Given the description of an element on the screen output the (x, y) to click on. 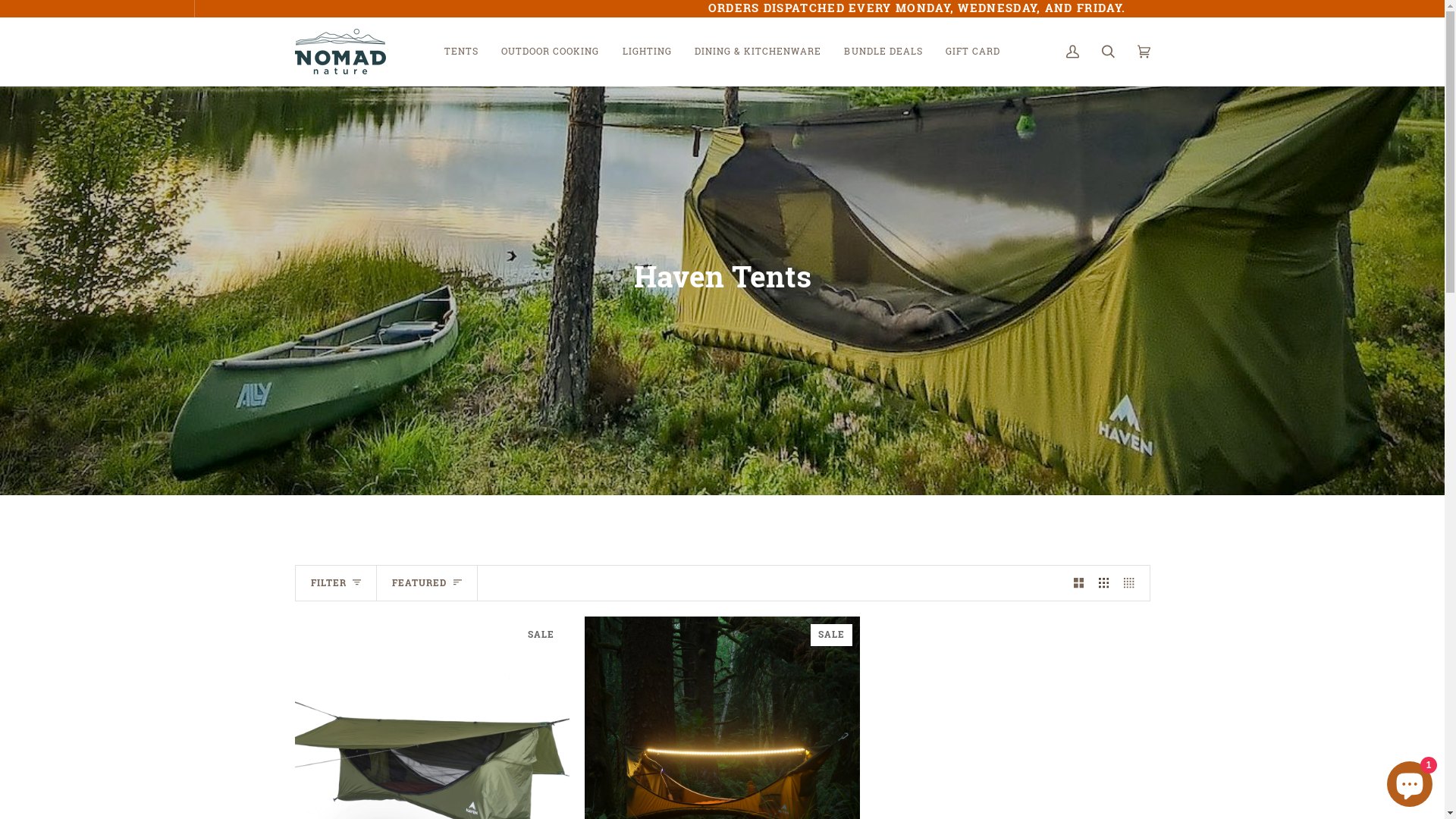
Filter Element type: text (98, 14)
TENTS Element type: text (461, 51)
DINING & KITCHENWARE Element type: text (758, 51)
My Account Element type: text (1072, 51)
OUTDOOR COOKING Element type: text (550, 51)
FEATURED Element type: text (426, 582)
Shopify online store chat Element type: hover (1409, 780)
BUNDLE DEALS Element type: text (882, 51)
Cart
(0) Element type: text (1143, 51)
GIFT CARD Element type: text (972, 51)
LIGHTING Element type: text (647, 51)
FILTER Element type: text (336, 582)
Search Element type: text (1108, 51)
